Given the description of an element on the screen output the (x, y) to click on. 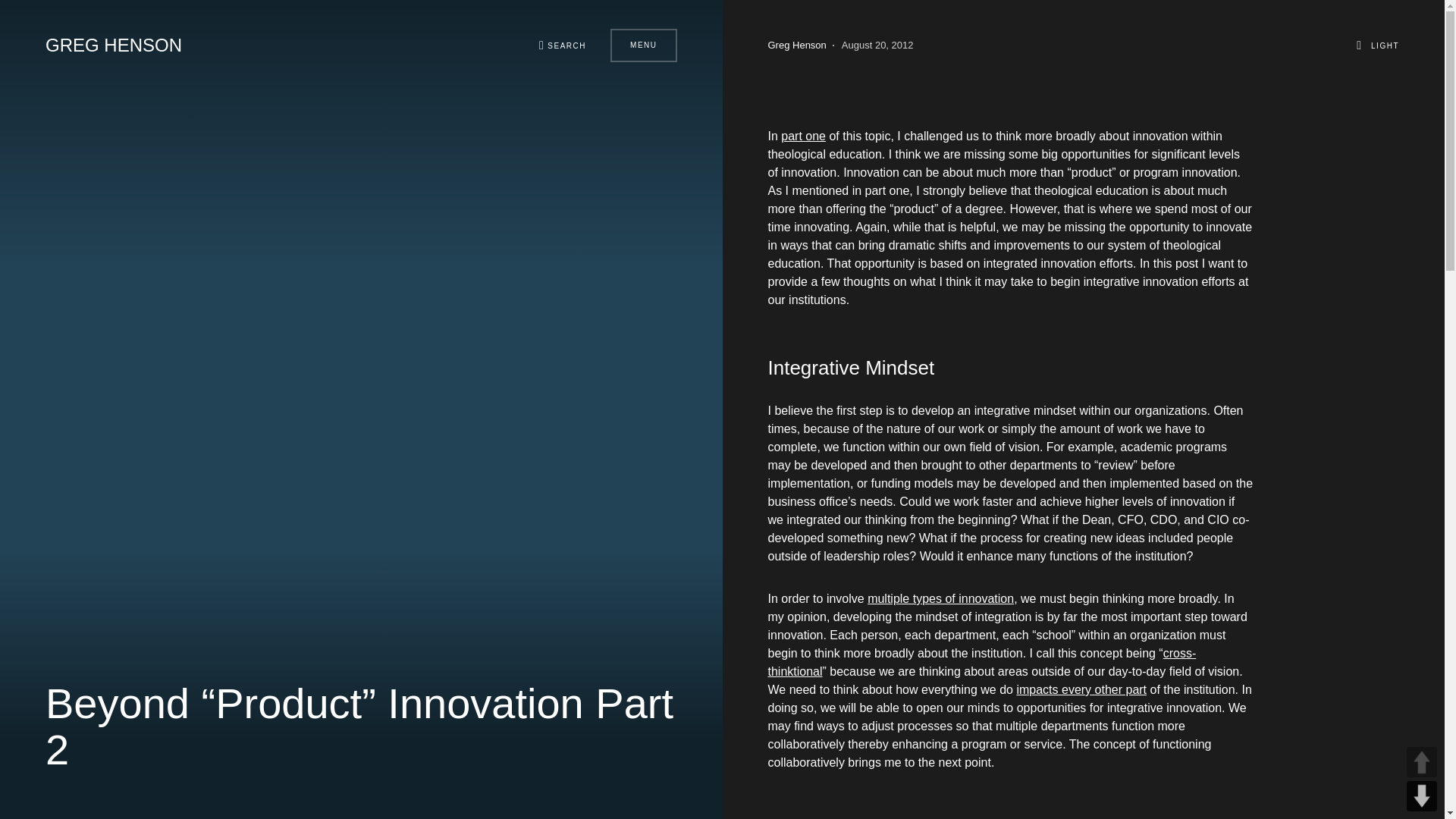
The Death of Cross-functionality (981, 662)
GREG HENSON (113, 44)
multiple types of innovation (940, 598)
cross-thinktional (981, 662)
Greg Henson (796, 45)
View all posts by Greg Henson (796, 45)
impacts every other part (1081, 689)
part one (802, 135)
